Given the description of an element on the screen output the (x, y) to click on. 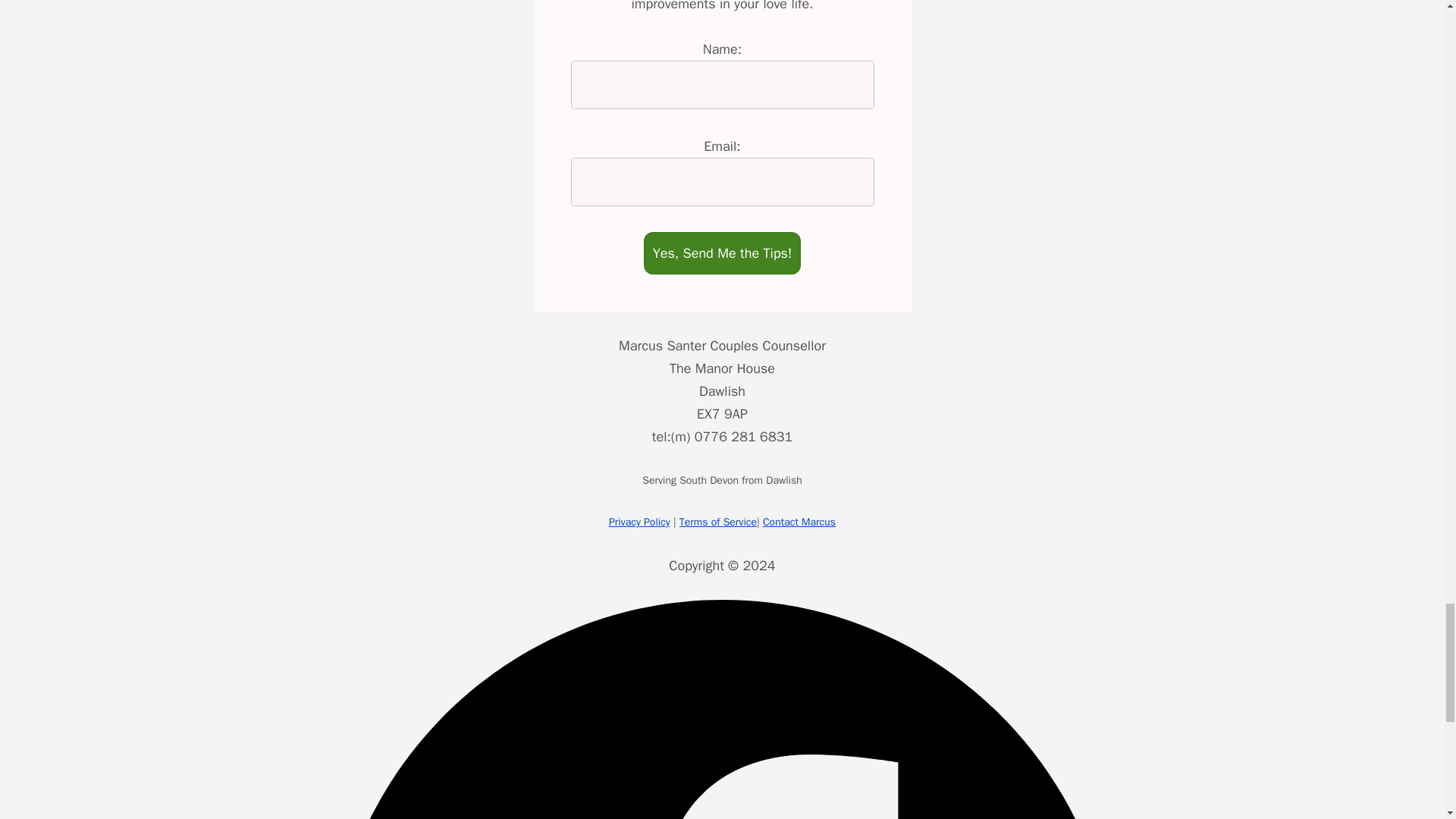
Privacy Policy (638, 521)
Terms of Service (718, 521)
Yes, Send Me the Tips! (722, 252)
Yes, Send Me the Tips! (722, 252)
Contact Marcus (798, 521)
